Given the description of an element on the screen output the (x, y) to click on. 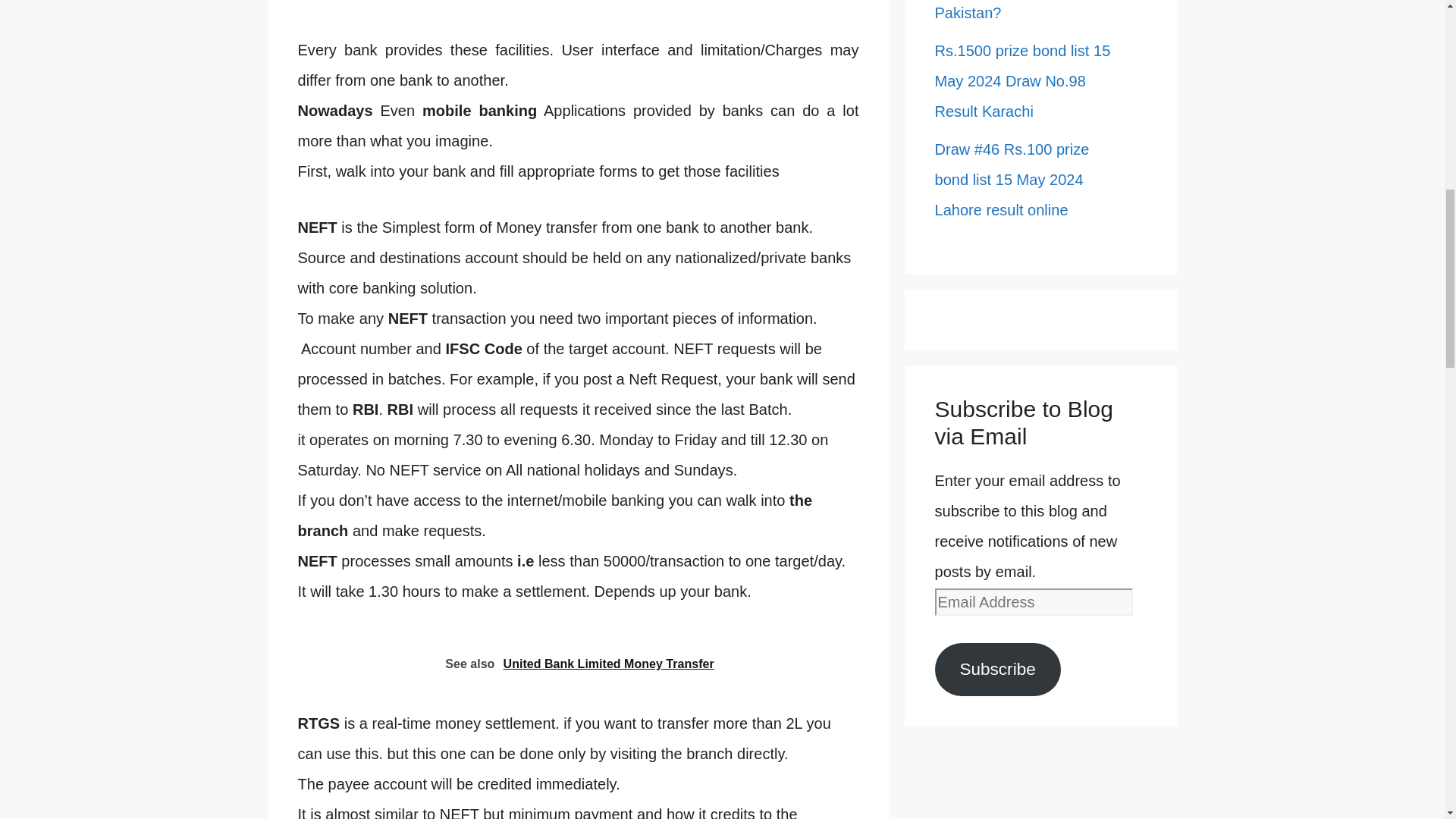
Scroll back to top (1406, 720)
See also  United Bank Limited Money Transfer (578, 662)
